Given the description of an element on the screen output the (x, y) to click on. 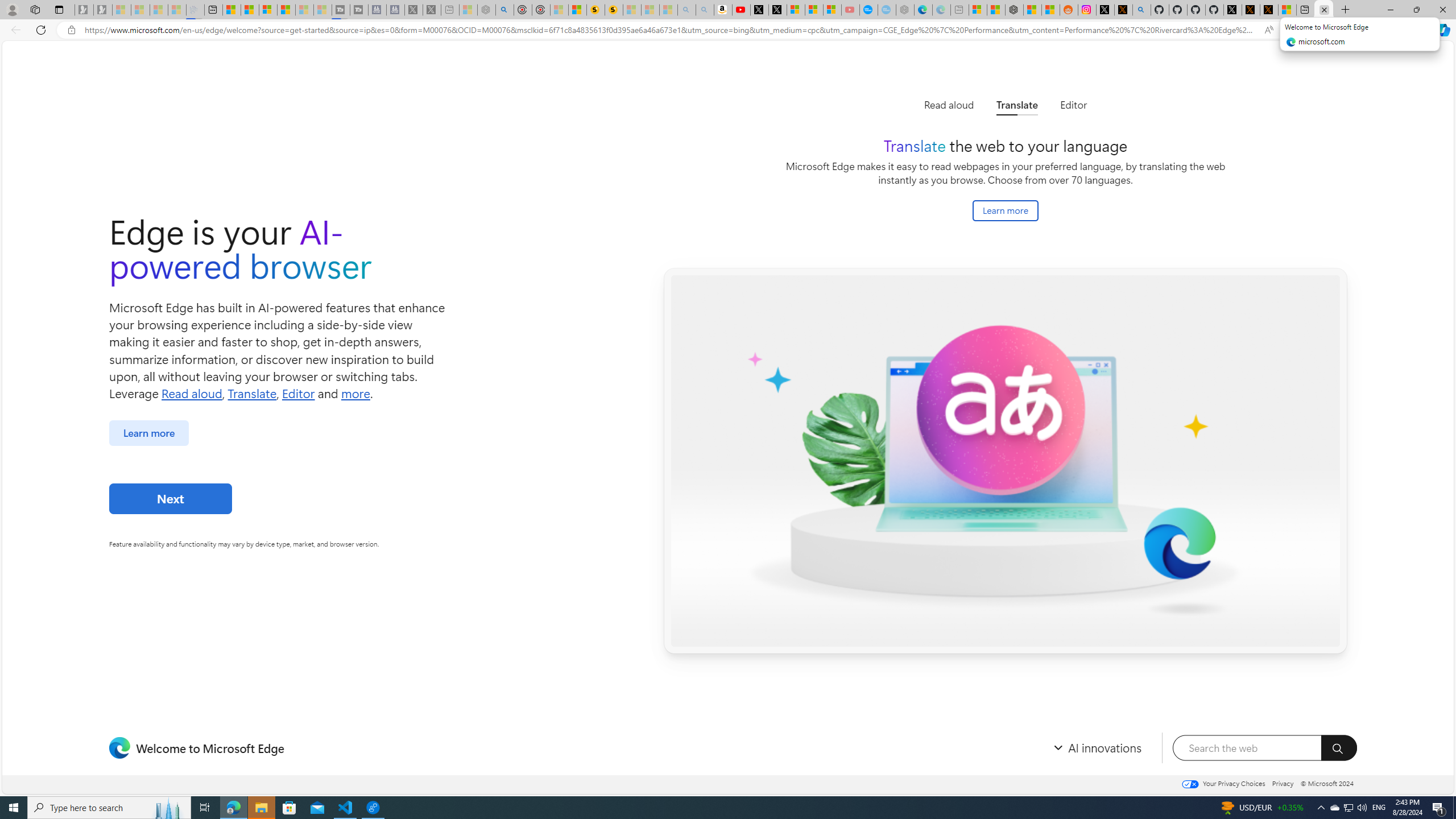
Day 1: Arriving in Yemen (surreal to be here) - YouTube (741, 9)
amazon - Search - Sleeping (686, 9)
Microsoft Start - Sleeping (304, 9)
Wildlife - MSN - Sleeping (467, 9)
Profile / X (1232, 9)
X Privacy Policy (1268, 9)
Gloom - YouTube - Sleeping (850, 9)
